Given the description of an element on the screen output the (x, y) to click on. 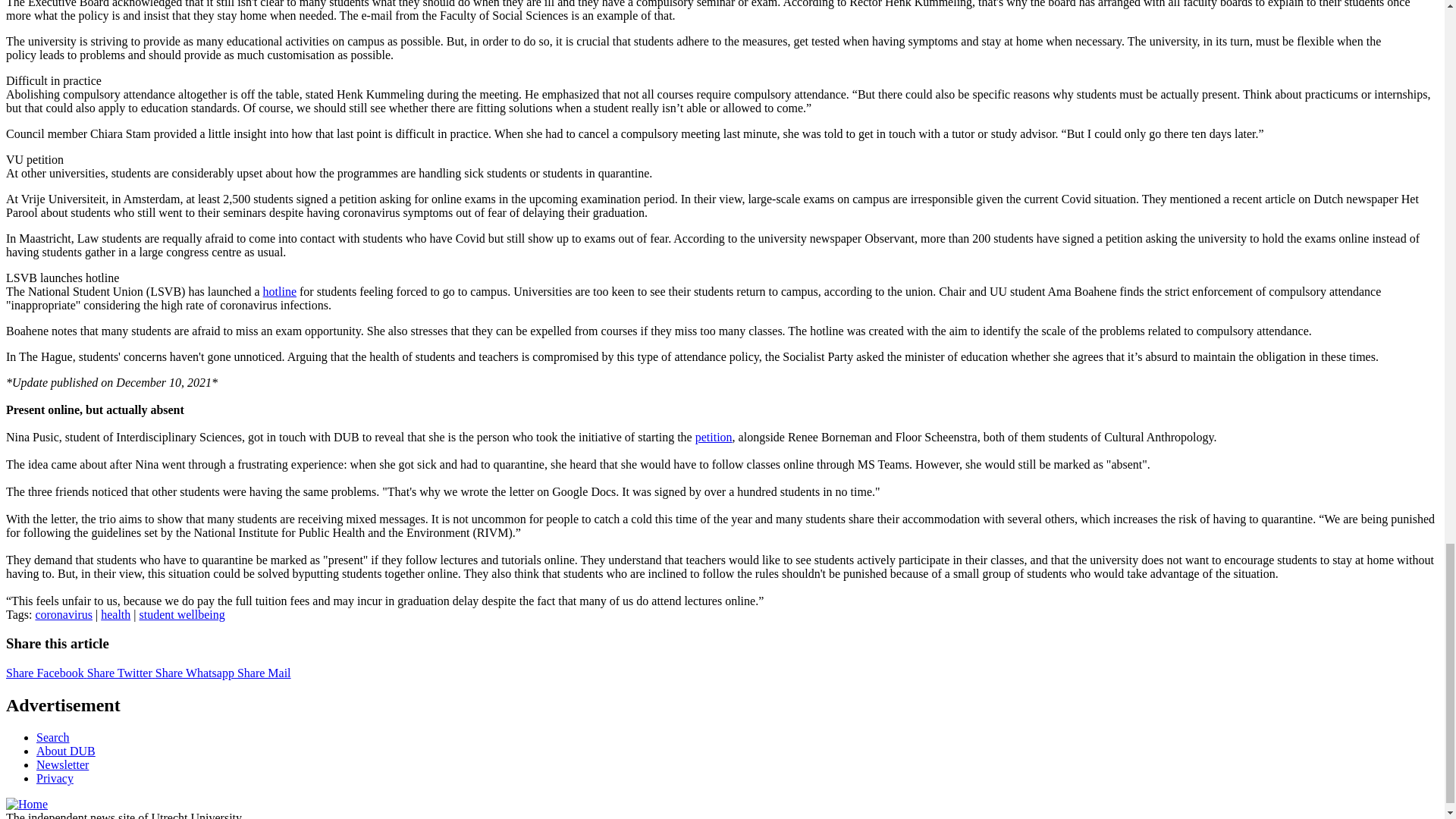
Share Twitter (121, 672)
Privacy (55, 778)
coronavirus (63, 614)
petition (713, 436)
student wellbeing (181, 614)
hotline (280, 291)
Present online, but actually absent (94, 409)
Newsletter (62, 764)
Search (52, 737)
Share Whatsapp (196, 672)
health (115, 614)
About DUB (66, 750)
Share Mail (264, 672)
Share Facebook (46, 672)
